Given the description of an element on the screen output the (x, y) to click on. 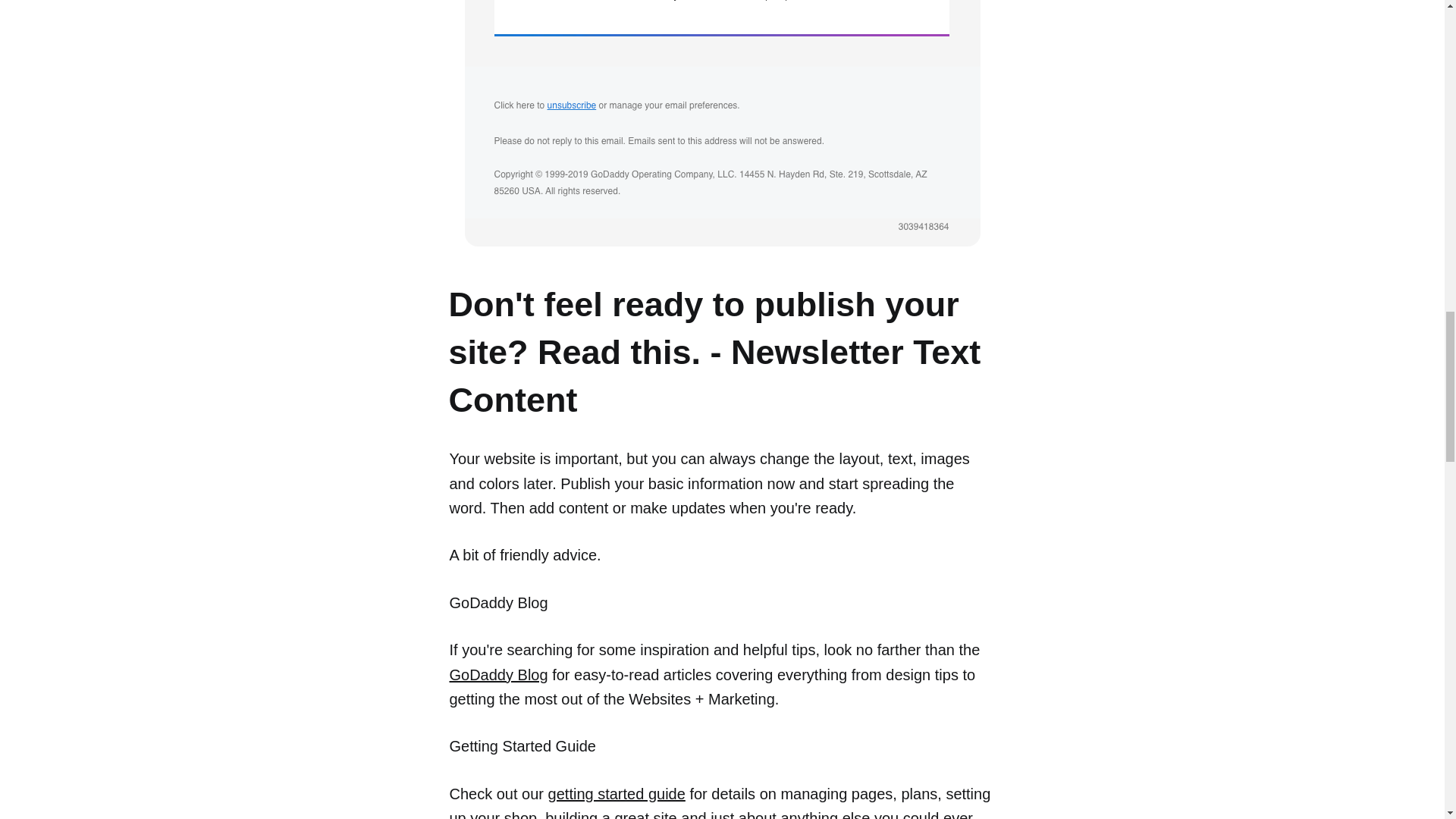
GoDaddy Blog (497, 673)
getting started guide (616, 793)
